Given the description of an element on the screen output the (x, y) to click on. 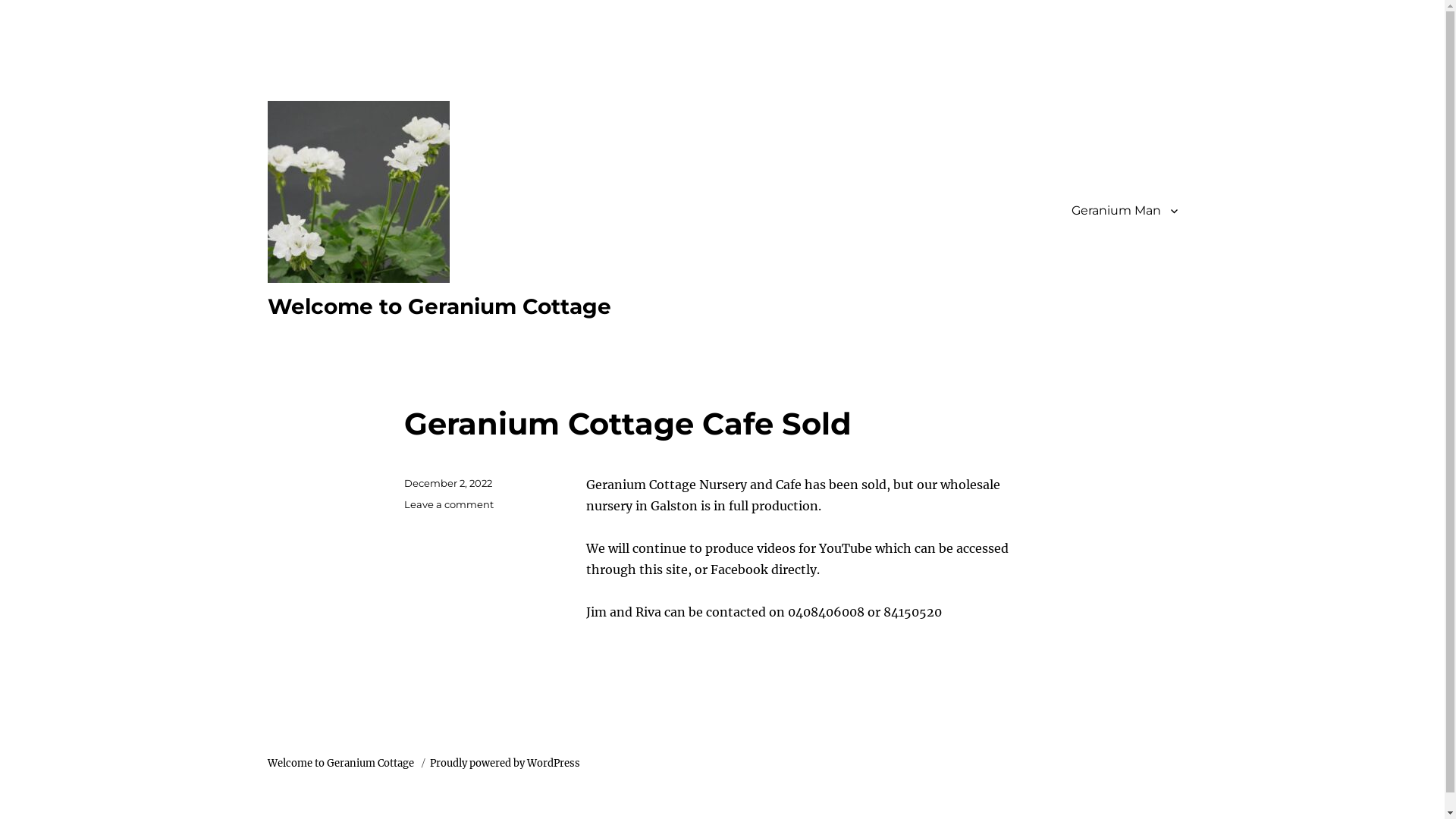
December 2, 2022 Element type: text (447, 482)
Geranium Man Element type: text (1123, 209)
Geranium Cottage Cafe Sold Element type: text (626, 423)
Welcome to Geranium Cottage Element type: text (340, 762)
Leave a comment
on Geranium Cottage Cafe Sold Element type: text (447, 504)
Proudly powered by WordPress Element type: text (504, 762)
Welcome to Geranium Cottage Element type: text (438, 306)
